Given the description of an element on the screen output the (x, y) to click on. 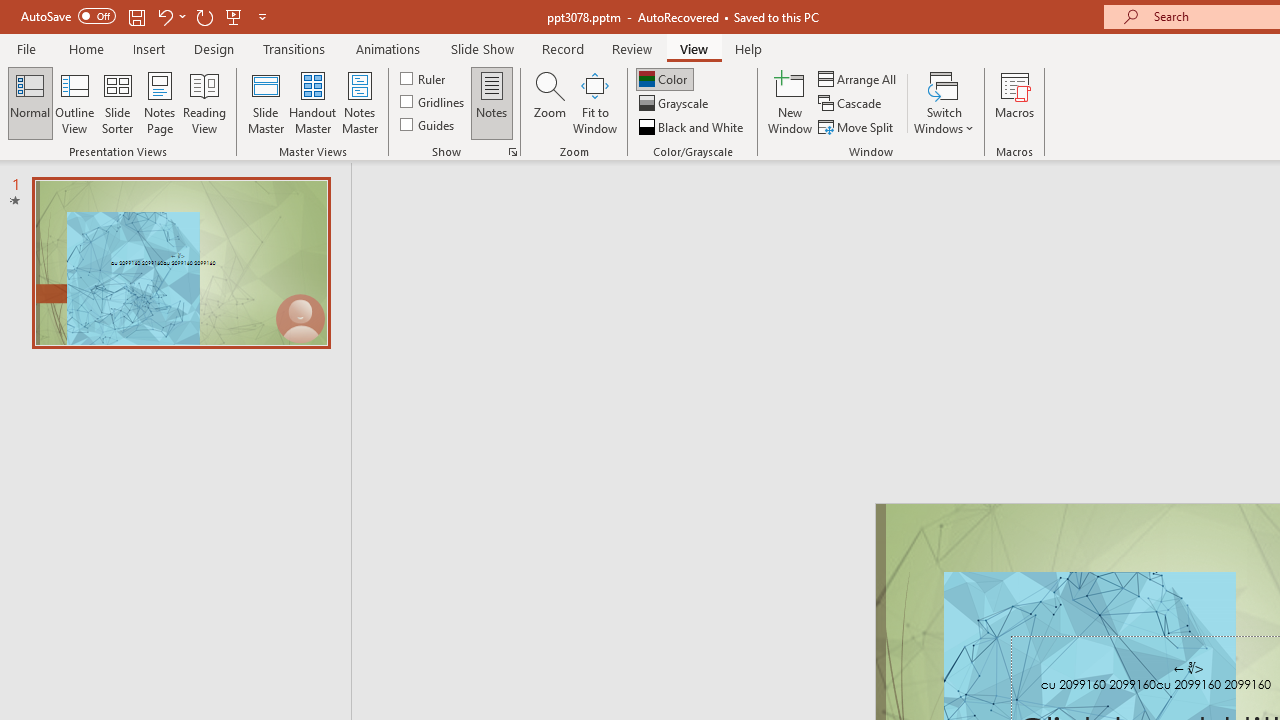
Zoom... (549, 102)
Guides (428, 124)
Fit to Window (594, 102)
Switch Windows (943, 102)
Cascade (851, 103)
